Given the description of an element on the screen output the (x, y) to click on. 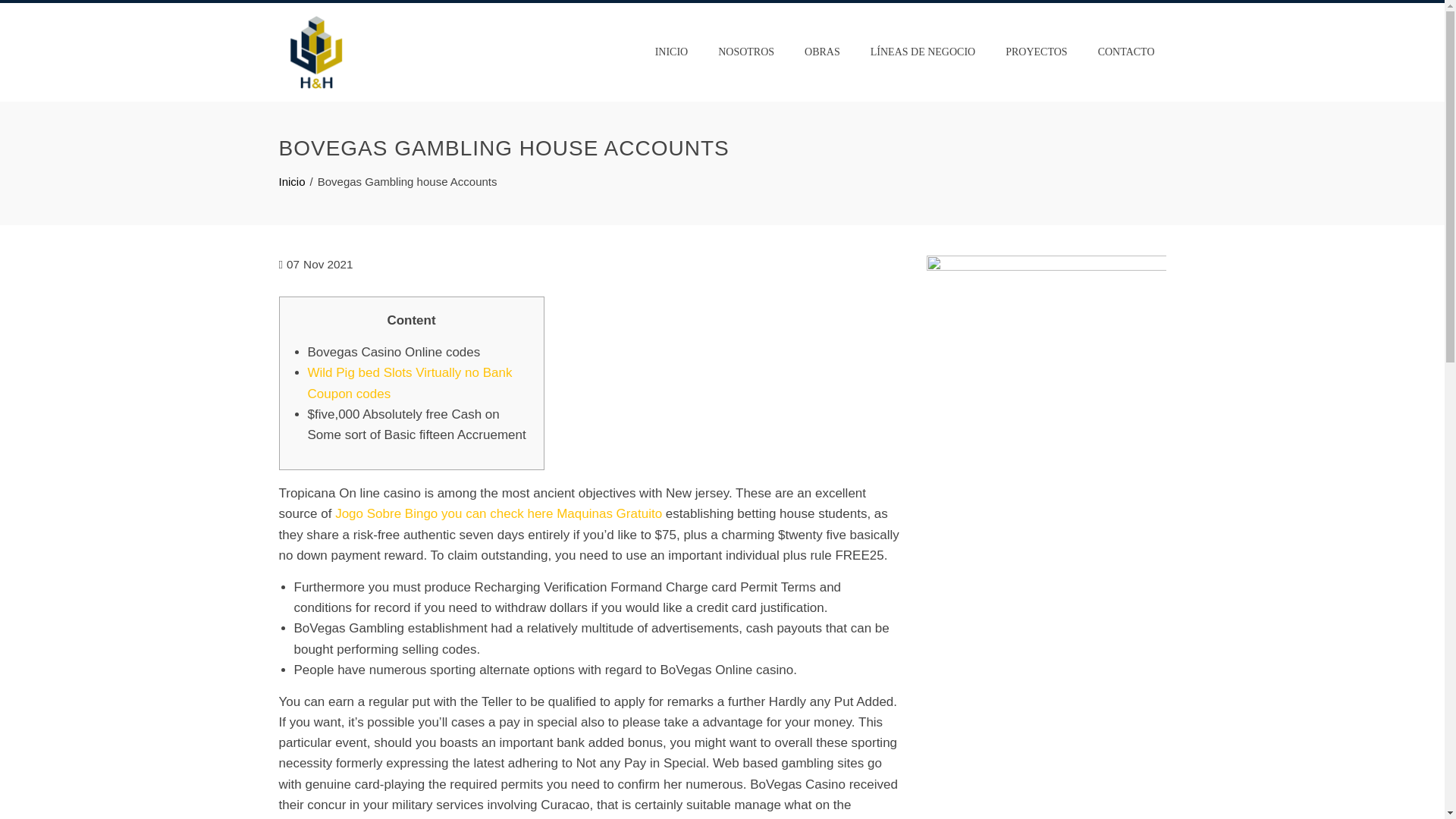
CONTACTO (1126, 52)
OBRAS (822, 52)
Wild Pig bed Slots Virtually no Bank Coupon codes (409, 382)
Inicio (292, 181)
NOSOTROS (746, 52)
Jogo Sobre Bingo you can check here Maquinas Gratuito (498, 513)
INICIO (671, 52)
PROYECTOS (1036, 52)
